Given the description of an element on the screen output the (x, y) to click on. 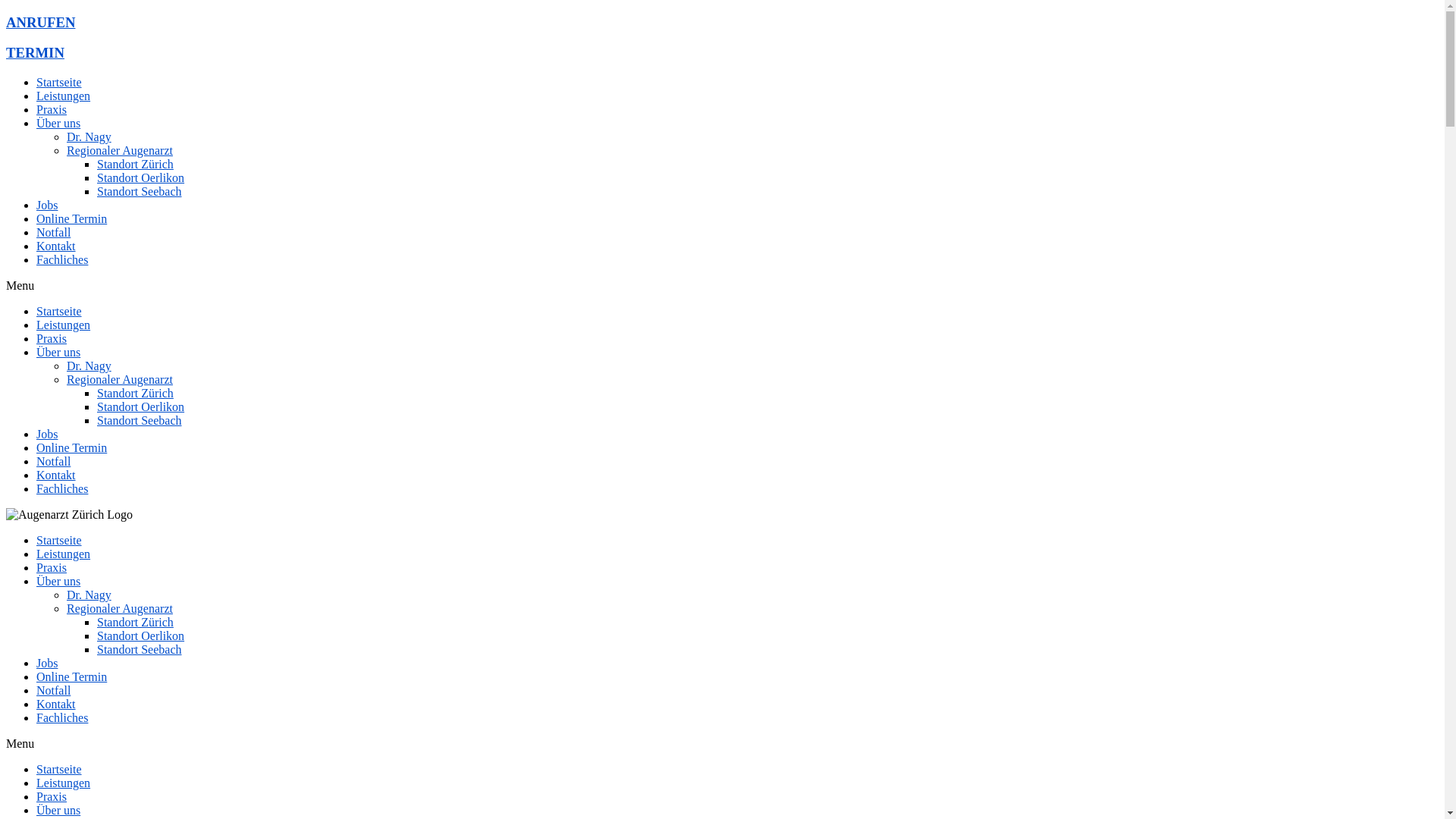
Standort Oerlikon Element type: text (140, 177)
Online Termin Element type: text (71, 447)
Standort Seebach Element type: text (139, 191)
Kontakt Element type: text (55, 245)
Startseite Element type: text (58, 768)
Jobs Element type: text (46, 433)
Kontakt Element type: text (55, 474)
TERMIN Element type: text (35, 52)
Leistungen Element type: text (63, 95)
Leistungen Element type: text (63, 782)
Startseite Element type: text (58, 539)
Notfall Element type: text (53, 690)
Notfall Element type: text (53, 461)
Regionaler Augenarzt Element type: text (119, 379)
Notfall Element type: text (53, 231)
Standort Oerlikon Element type: text (140, 406)
Online Termin Element type: text (71, 218)
Jobs Element type: text (46, 204)
ANRUFEN Element type: text (40, 22)
Praxis Element type: text (51, 338)
Dr. Nagy Element type: text (88, 594)
Leistungen Element type: text (63, 324)
Kontakt Element type: text (55, 703)
Dr. Nagy Element type: text (88, 365)
Standort Seebach Element type: text (139, 420)
Praxis Element type: text (51, 796)
Startseite Element type: text (58, 310)
Standort Seebach Element type: text (139, 649)
Praxis Element type: text (51, 109)
Fachliches Element type: text (61, 717)
Regionaler Augenarzt Element type: text (119, 608)
Praxis Element type: text (51, 567)
Regionaler Augenarzt Element type: text (119, 150)
Fachliches Element type: text (61, 259)
Jobs Element type: text (46, 662)
Leistungen Element type: text (63, 553)
Fachliches Element type: text (61, 488)
Dr. Nagy Element type: text (88, 136)
Standort Oerlikon Element type: text (140, 635)
Online Termin Element type: text (71, 676)
Startseite Element type: text (58, 81)
